Given the description of an element on the screen output the (x, y) to click on. 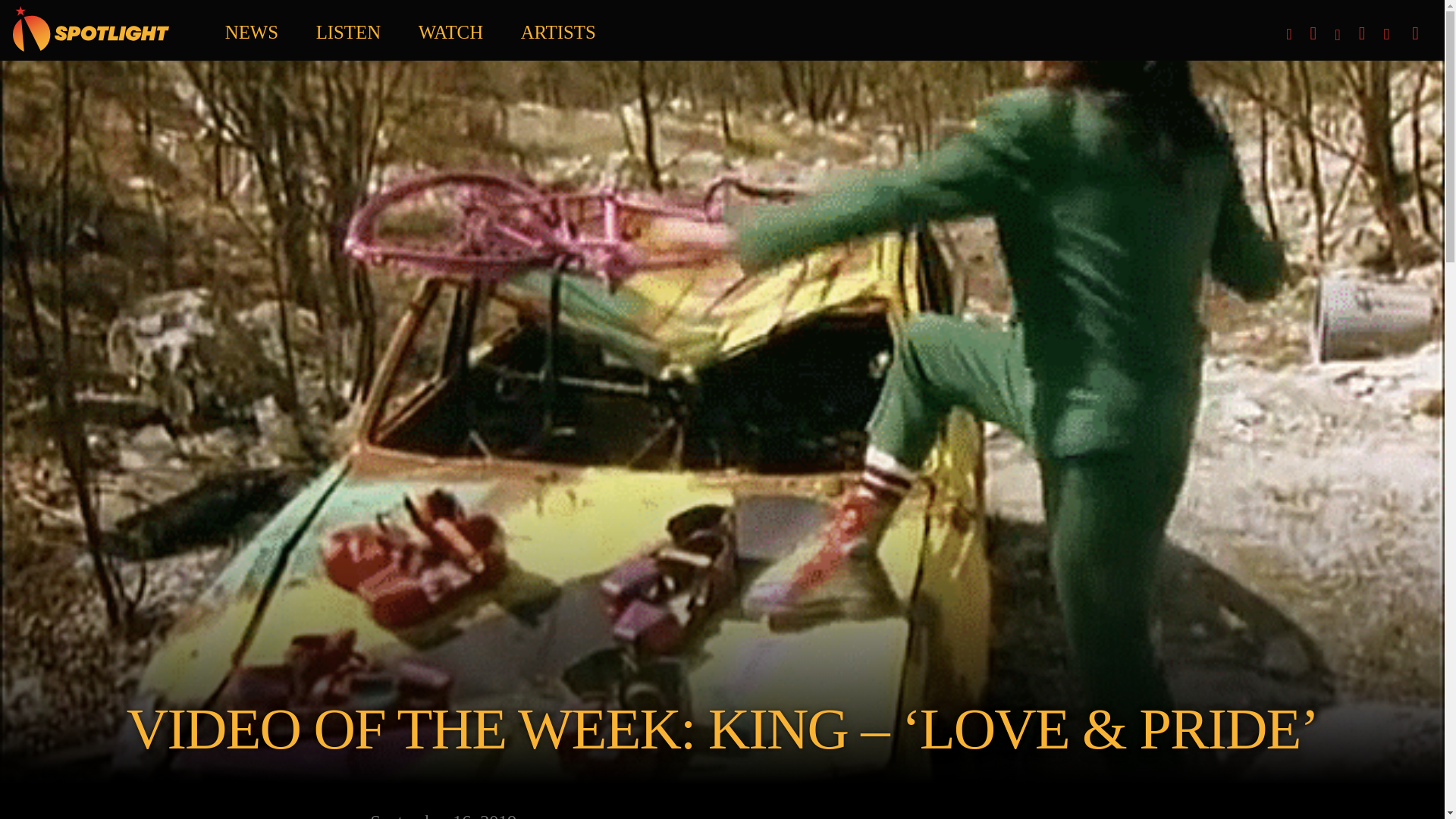
Visit the Spotlight YouTube page (1267, 24)
Read Spotlight news (251, 28)
WATCH (450, 28)
NEWS (251, 28)
Listen to Spotlight music (347, 28)
Watch videos by Spotlight Artists (450, 28)
ARTISTS (558, 28)
Browse our Spotlight Artists (558, 28)
LISTEN (347, 28)
